Given the description of an element on the screen output the (x, y) to click on. 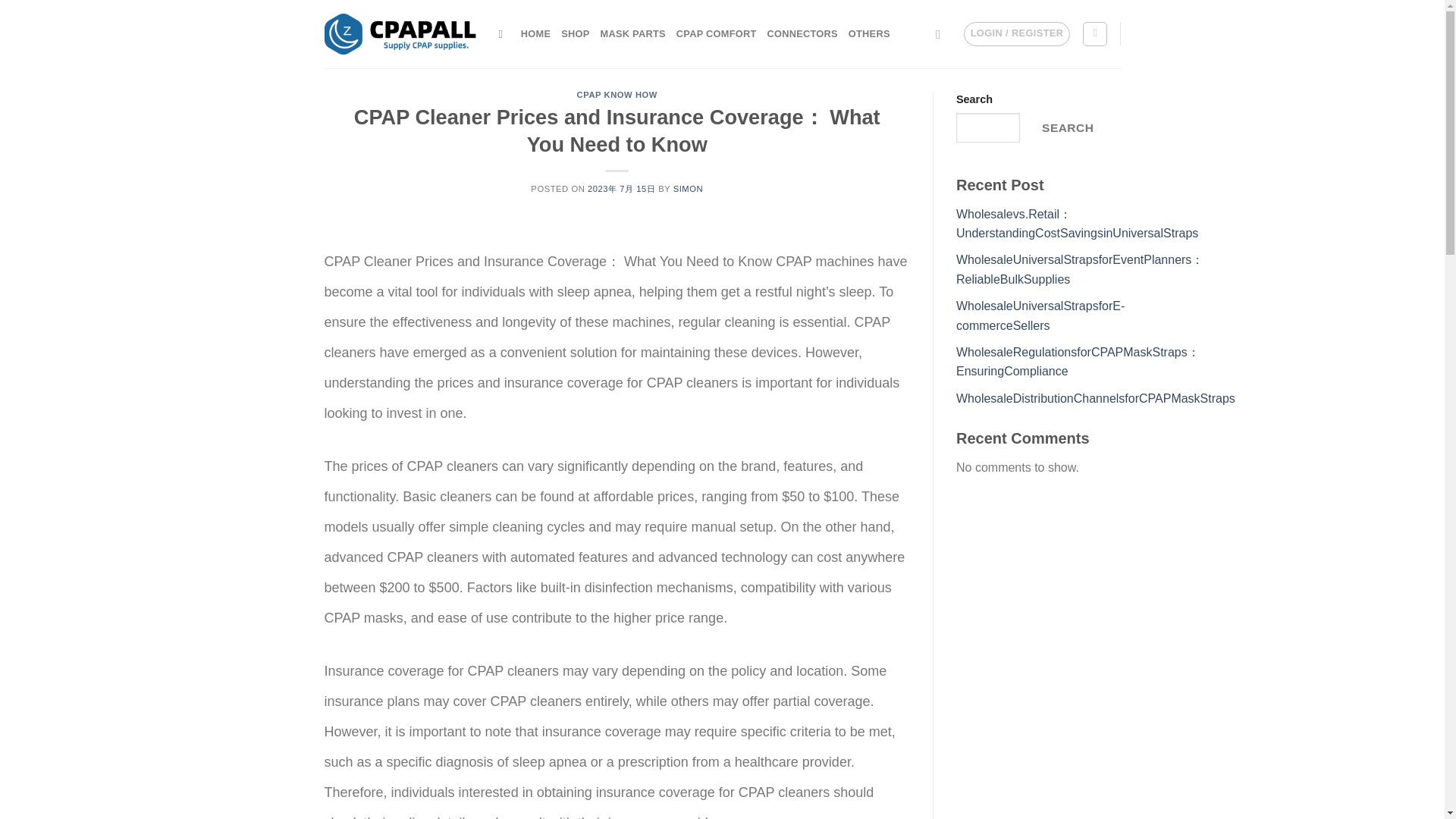
CPAP COMFORT (717, 33)
MASK PARTS (632, 33)
SHOP (574, 33)
CONNECTORS (802, 33)
SIMON (687, 188)
HOME (535, 33)
Send us an email (941, 33)
OTHERS (868, 33)
SEARCH (1067, 127)
CPAP KNOW HOW (617, 94)
Cart (1094, 33)
WholesaleDistributionChannelsforCPAPMaskStraps (1095, 398)
WholesaleUniversalStrapsforE-commerceSellers (1040, 315)
